Given the description of an element on the screen output the (x, y) to click on. 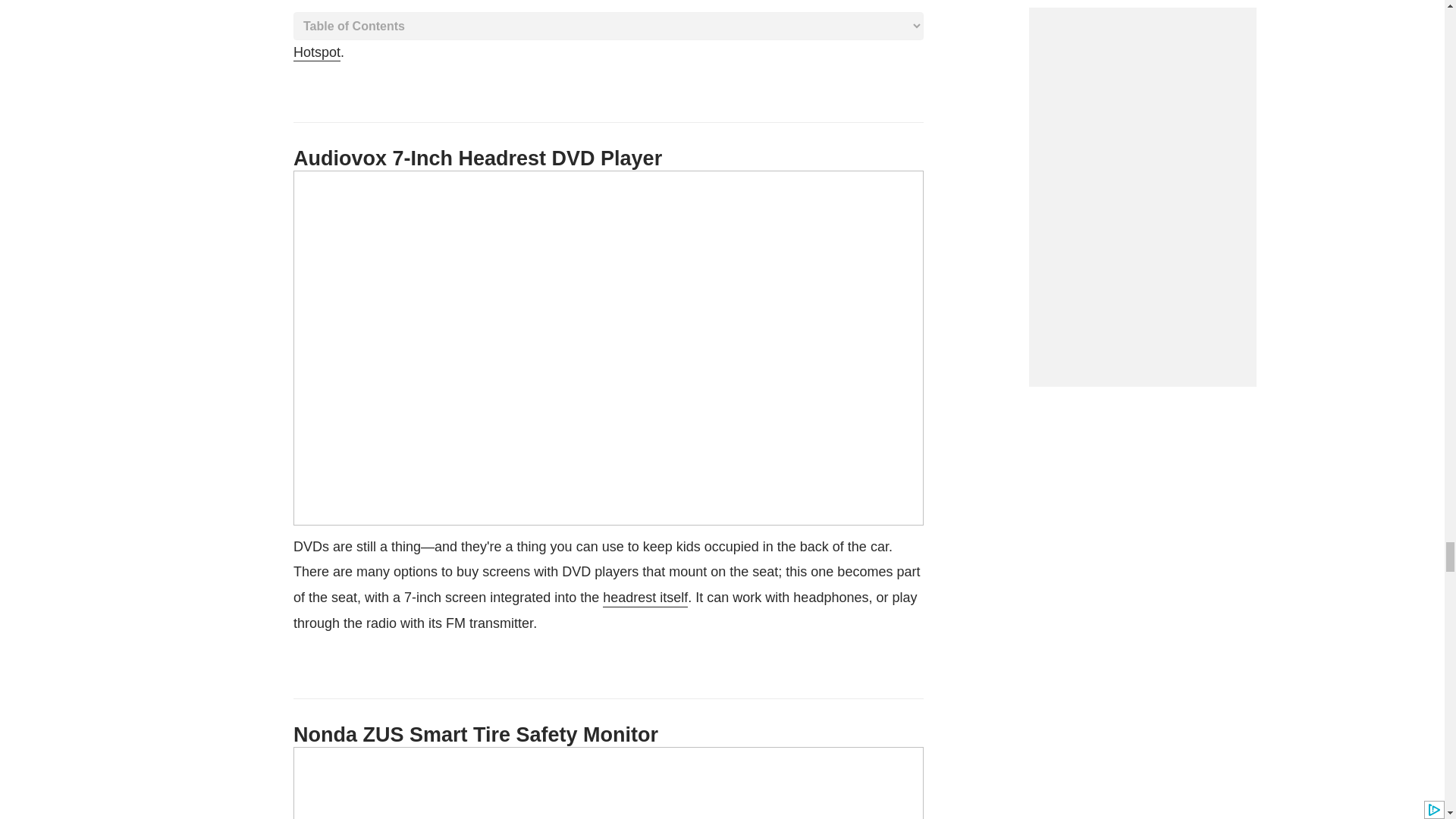
Buy It Now (603, 31)
